Given the description of an element on the screen output the (x, y) to click on. 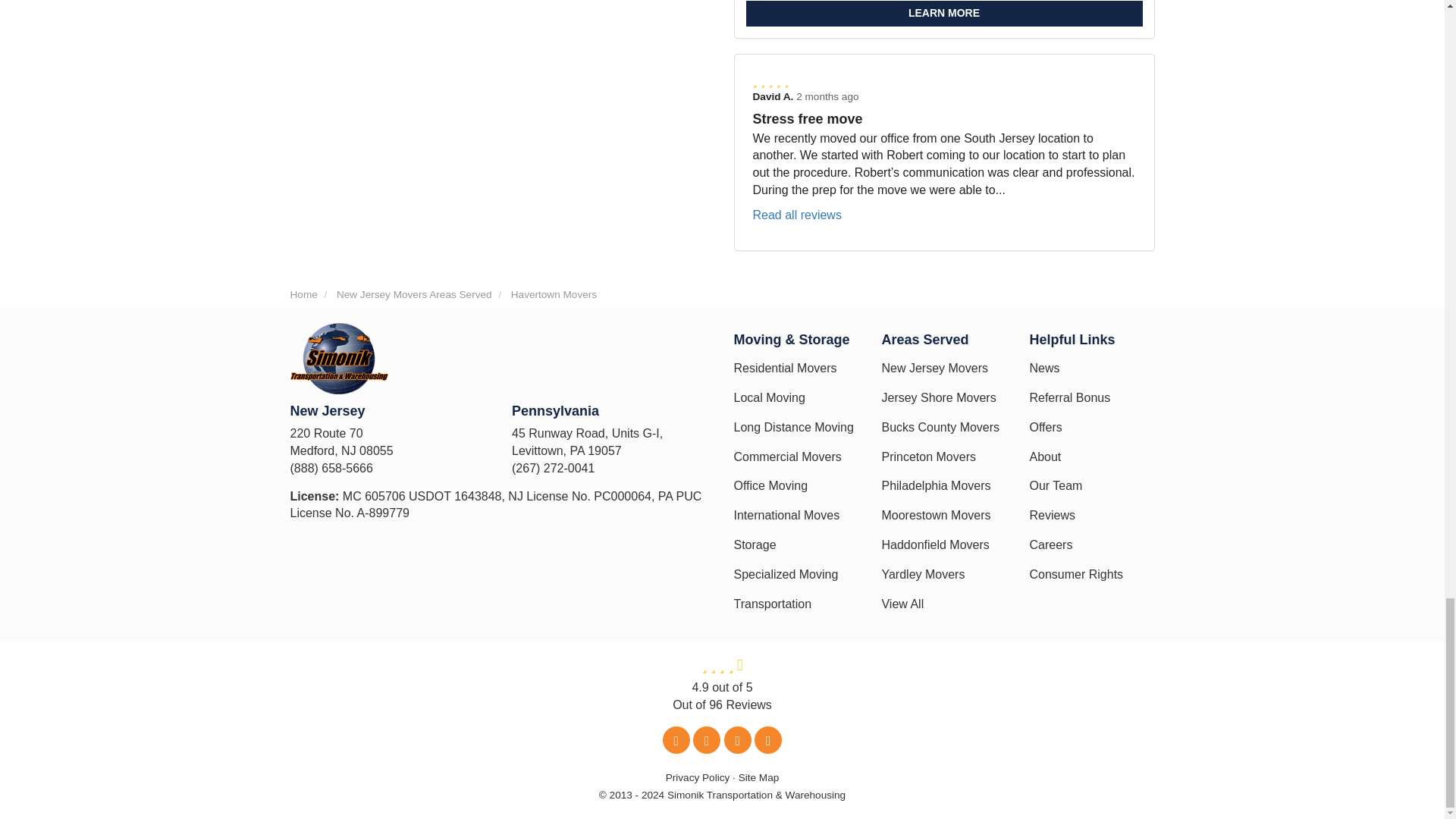
5 Stars (943, 81)
